Given the description of an element on the screen output the (x, y) to click on. 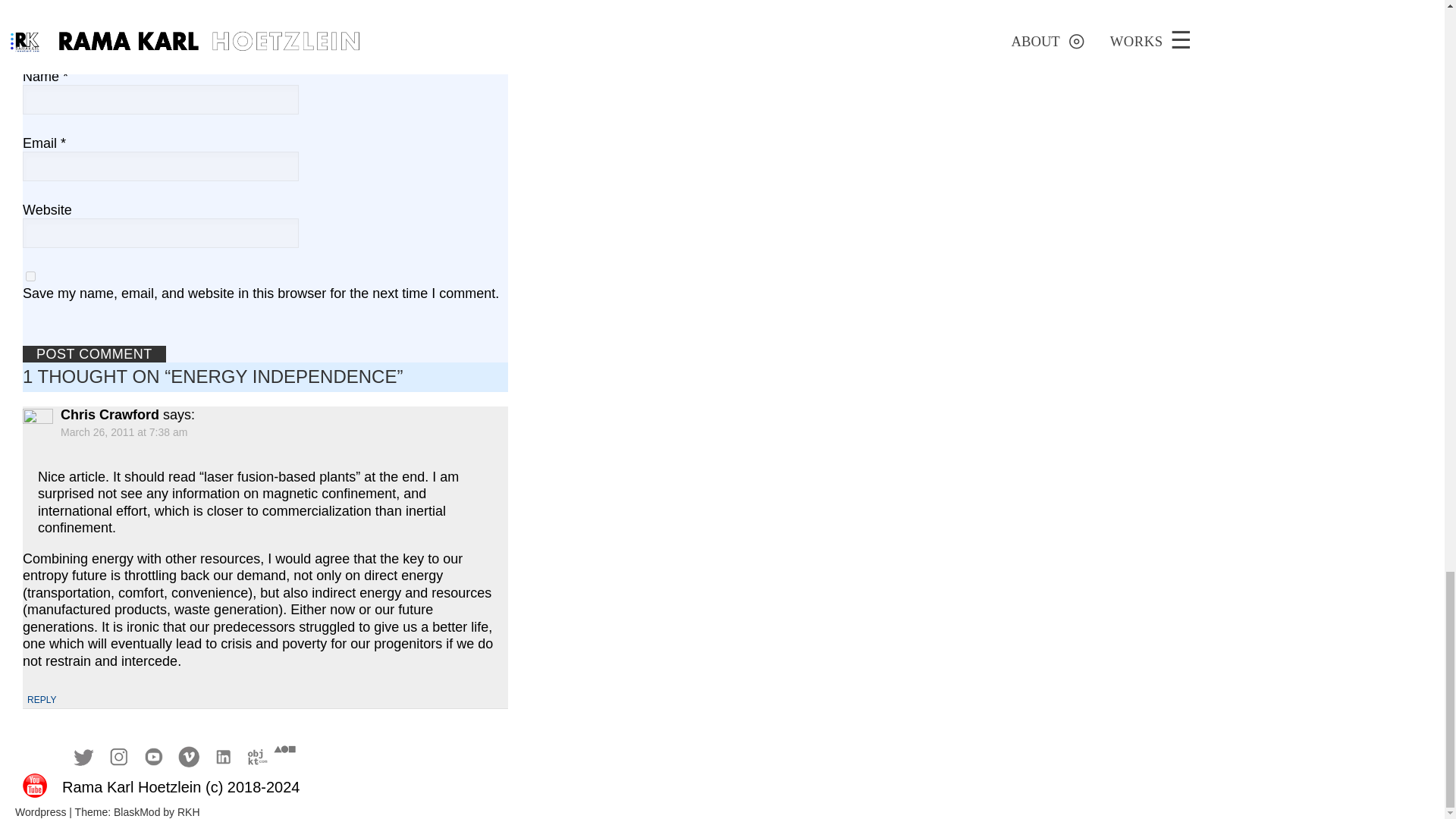
Post Comment (94, 354)
Post Comment (94, 354)
yes (30, 276)
March 26, 2011 at 7:38 am (124, 431)
REPLY (42, 700)
